Given the description of an element on the screen output the (x, y) to click on. 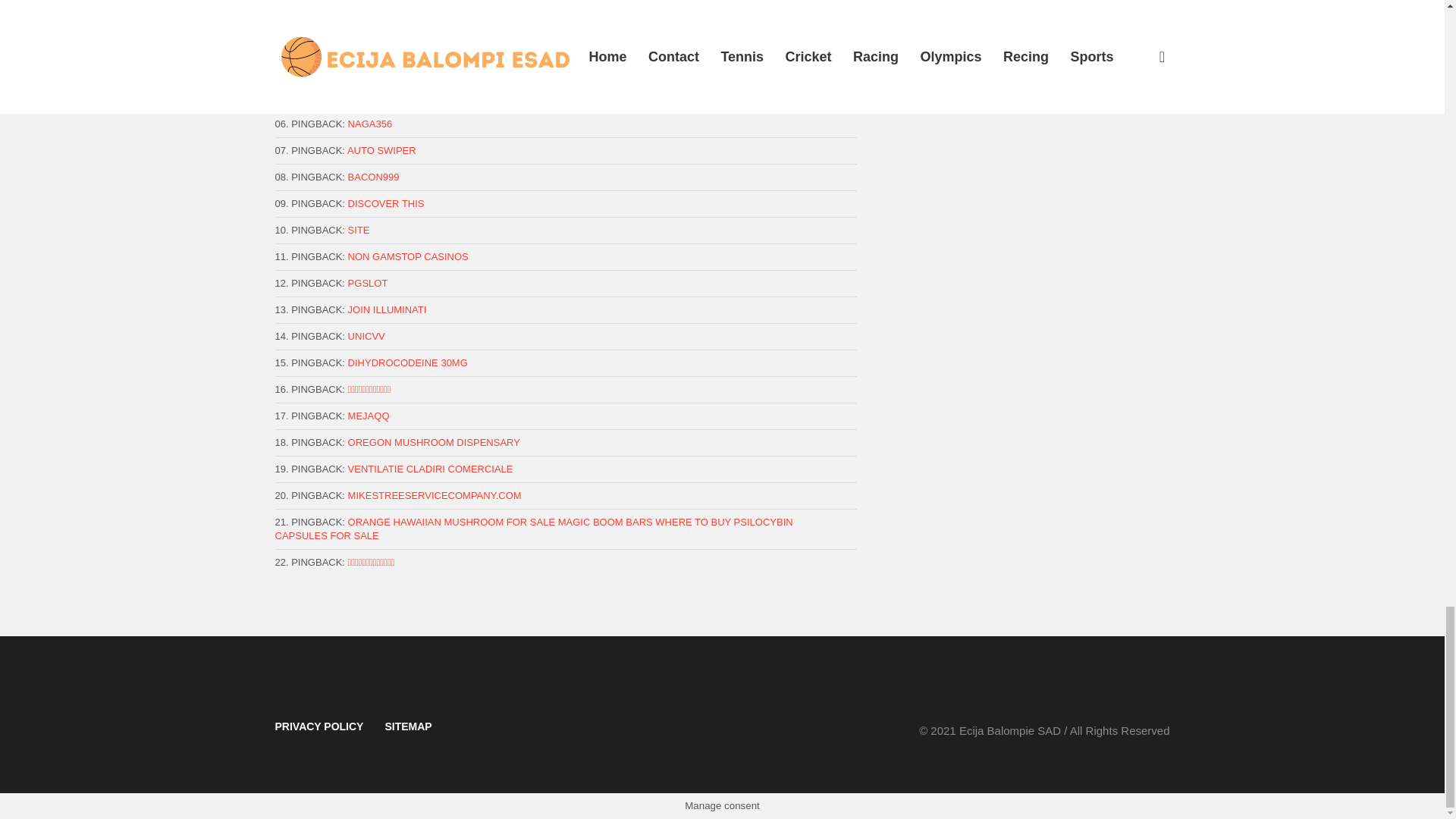
NAGA356 (370, 123)
AUTO SWIPER (381, 150)
DISCOVER THIS (386, 203)
FUCKBOY (371, 97)
BACON999 (372, 176)
SITE (358, 229)
APEX LEGENDS CHEATS (406, 17)
